Given the description of an element on the screen output the (x, y) to click on. 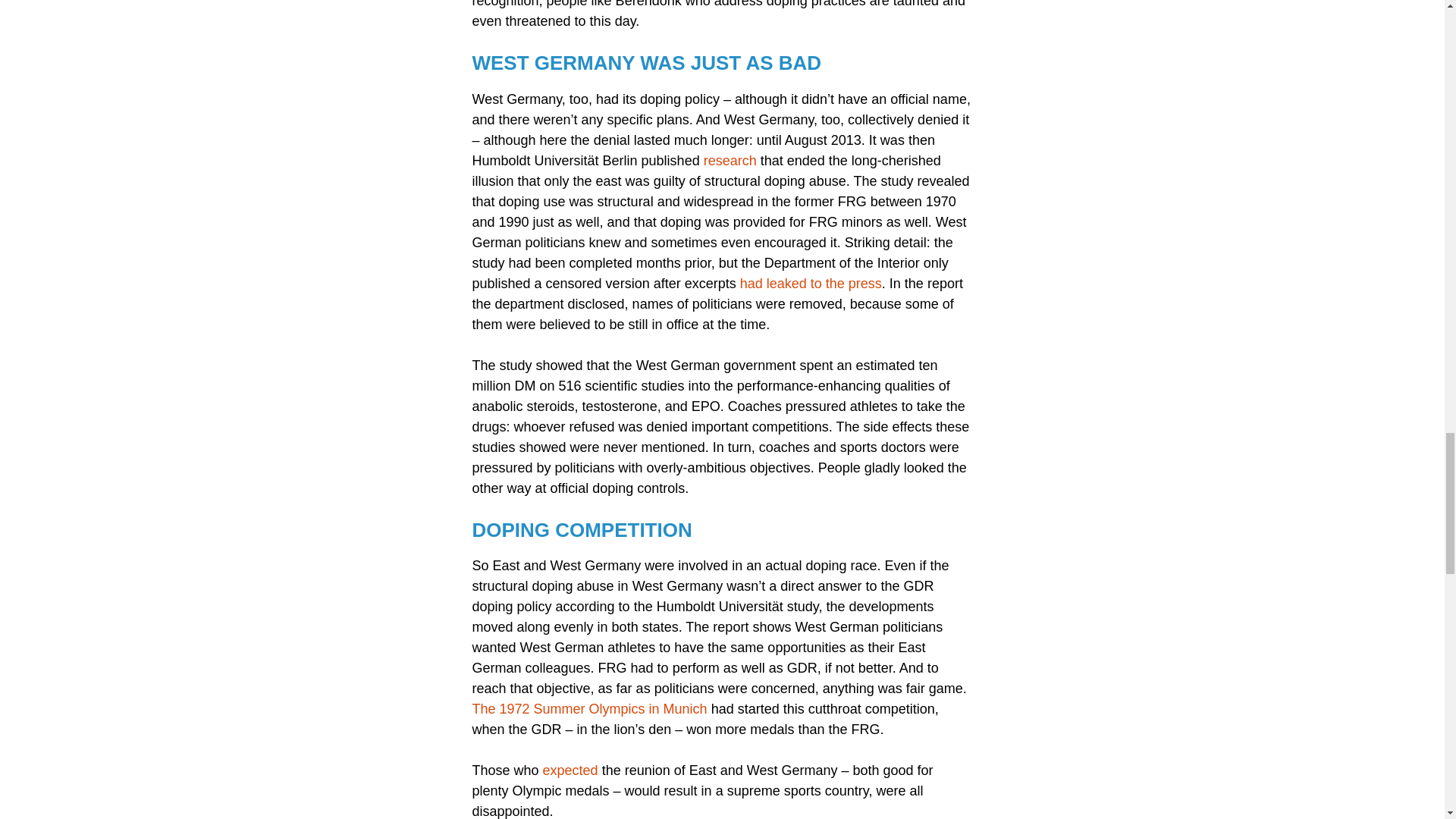
research (730, 160)
had leaked to the press (810, 283)
expected (570, 770)
The 1972 Summer Olympics in Munich (588, 708)
